Given the description of an element on the screen output the (x, y) to click on. 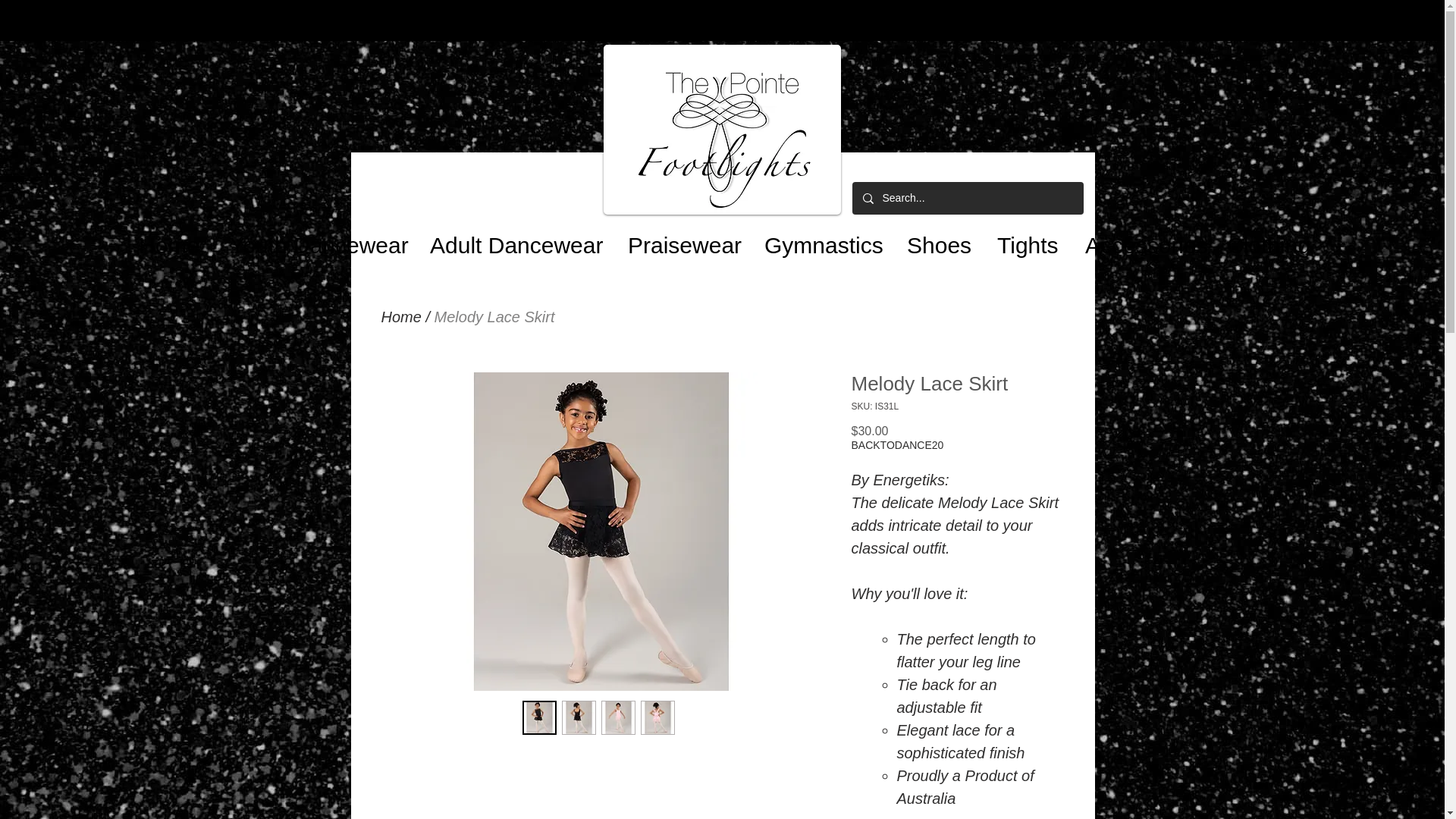
Gymnastics (817, 238)
Melody Lace Skirt (493, 316)
Home (166, 238)
Adult Dancewear (511, 238)
Home (400, 316)
Praisewear (678, 238)
Youth Dancewear (312, 238)
